Given the description of an element on the screen output the (x, y) to click on. 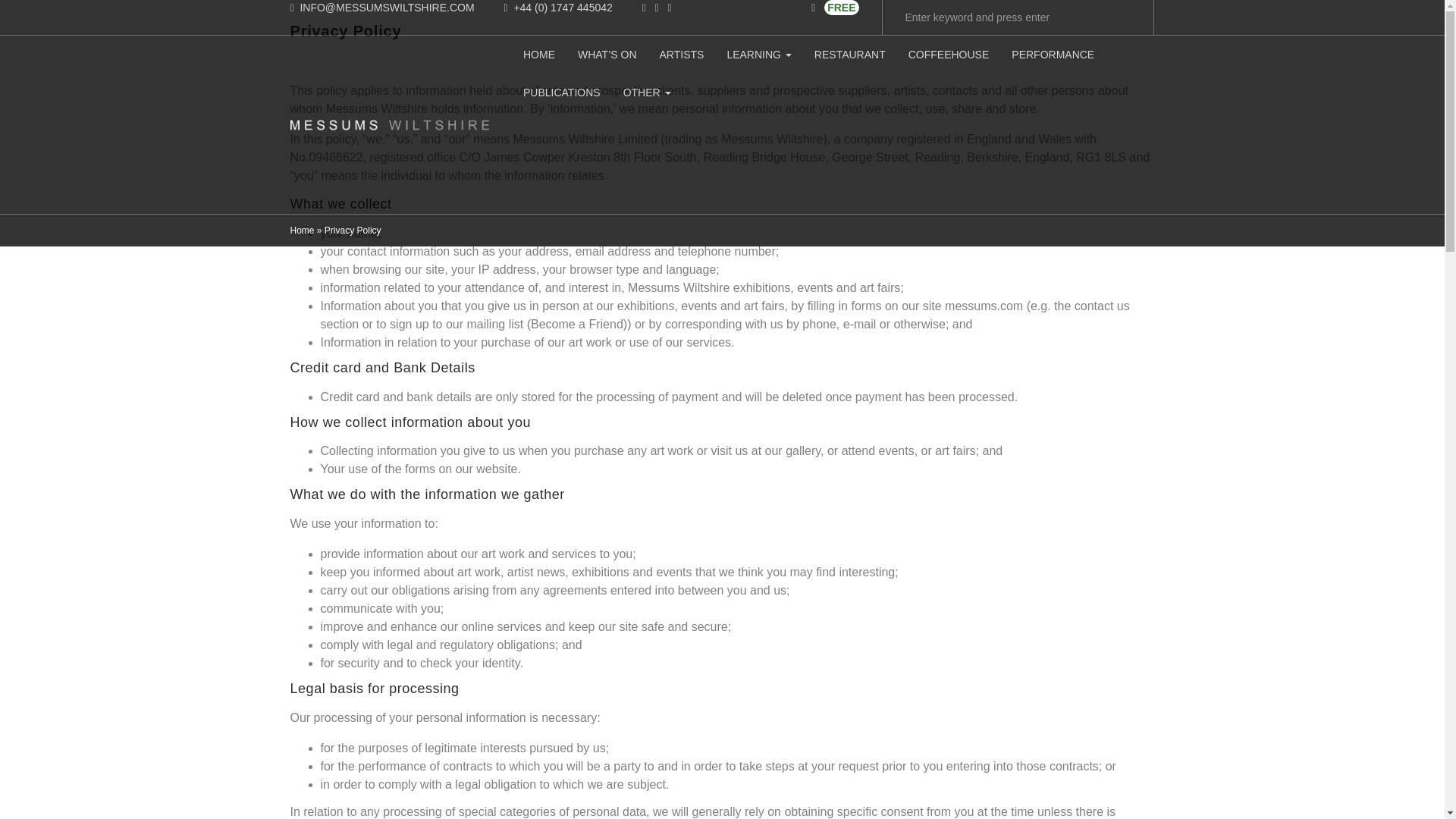
LEARNING (758, 54)
Learning (758, 54)
Publications (561, 92)
COFFEEHOUSE (948, 54)
Home (539, 54)
CoffeeHouse (948, 54)
Messums Wiltshire :  (389, 124)
RESTAURANT (849, 54)
Restaurant (849, 54)
OTHER (646, 92)
